Given the description of an element on the screen output the (x, y) to click on. 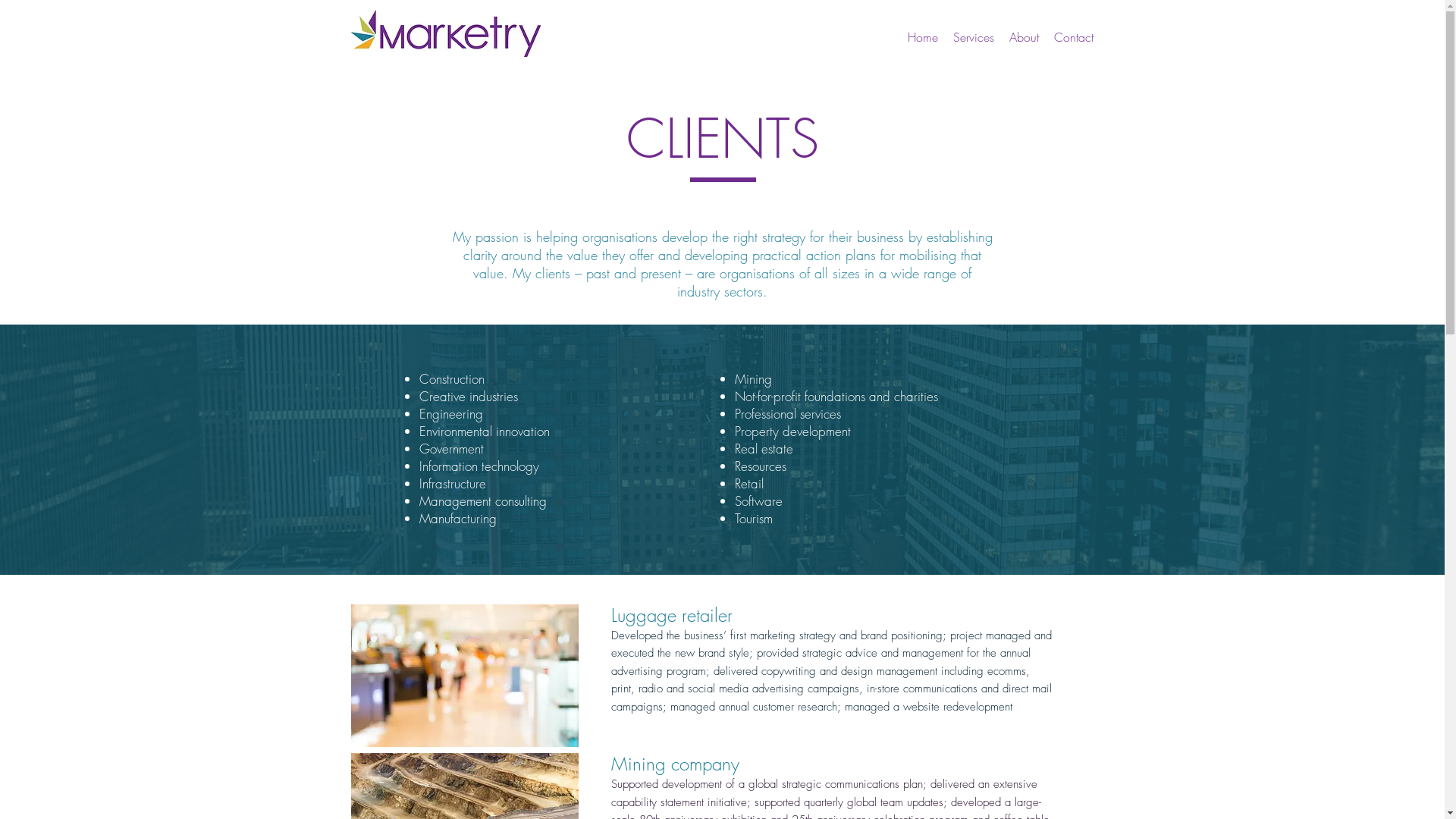
Contact Element type: text (1073, 37)
About Element type: text (1023, 37)
Blurry Store Element type: hover (463, 675)
Home Element type: text (921, 37)
Services Element type: text (972, 37)
